Given the description of an element on the screen output the (x, y) to click on. 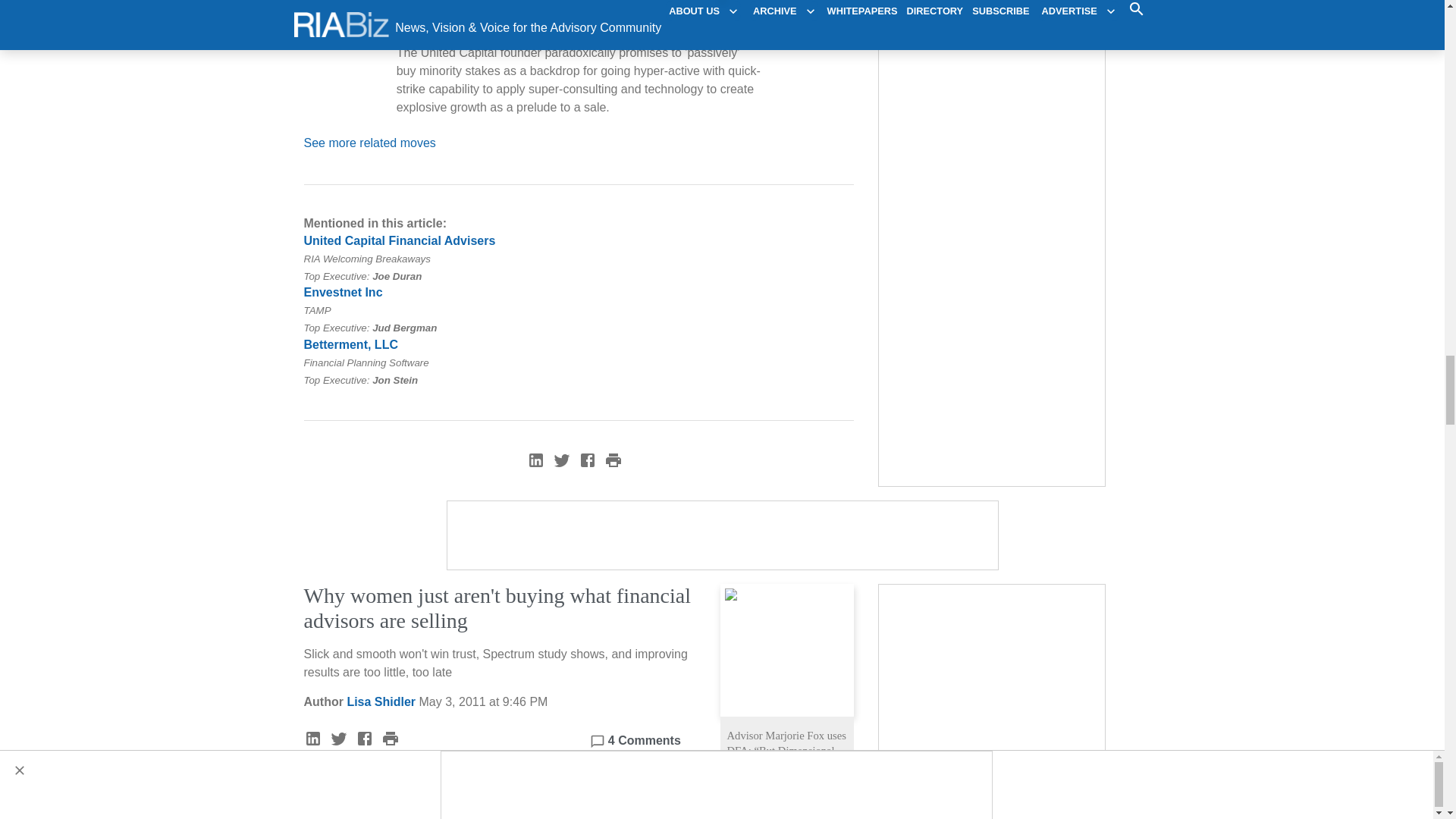
3rd party ad content (992, 678)
3rd party ad content (722, 535)
